Given the description of an element on the screen output the (x, y) to click on. 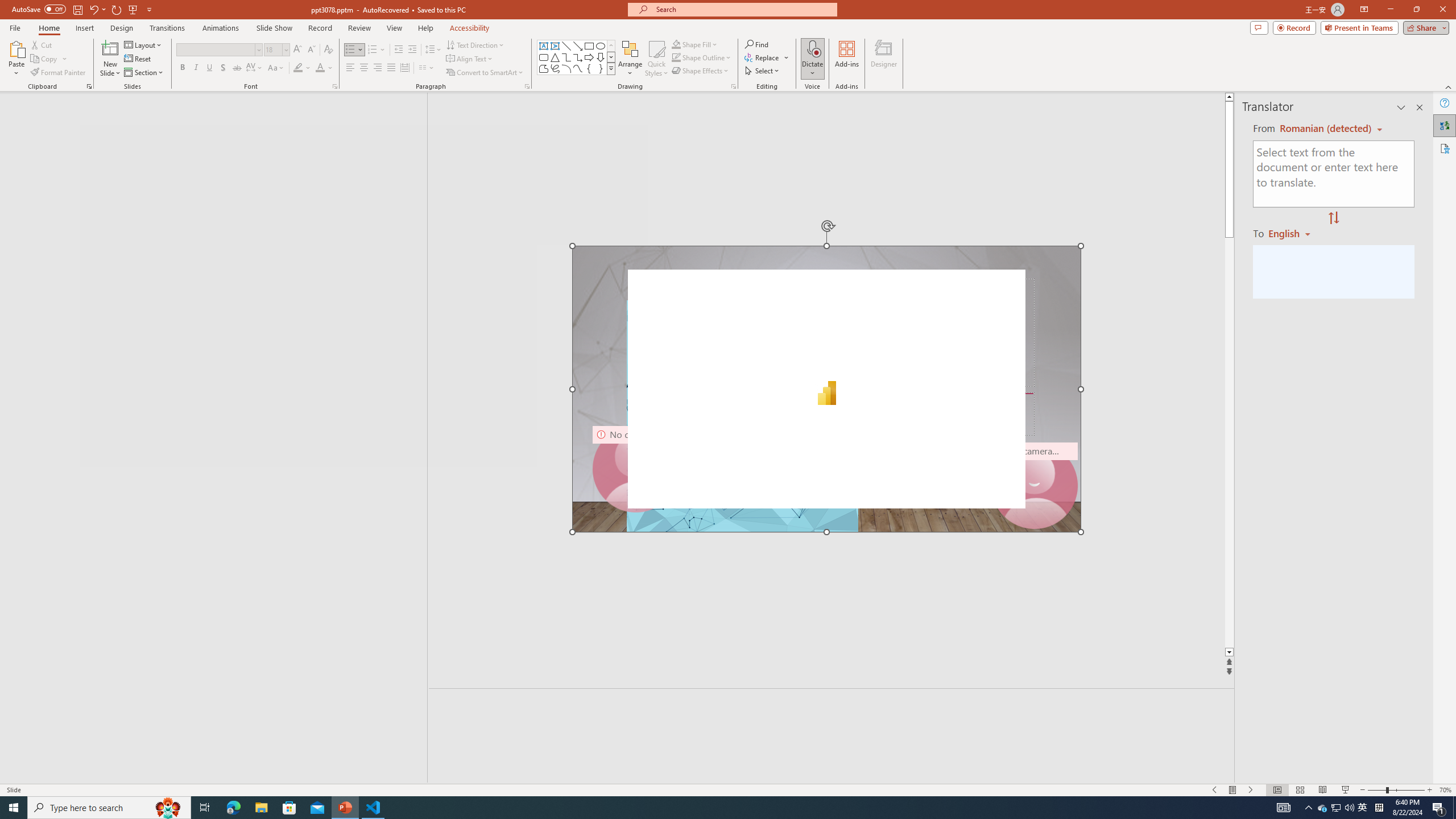
Zoom 70% (1445, 790)
TextBox 7 (820, 377)
Slide Show Previous On (1214, 790)
